Given the description of an element on the screen output the (x, y) to click on. 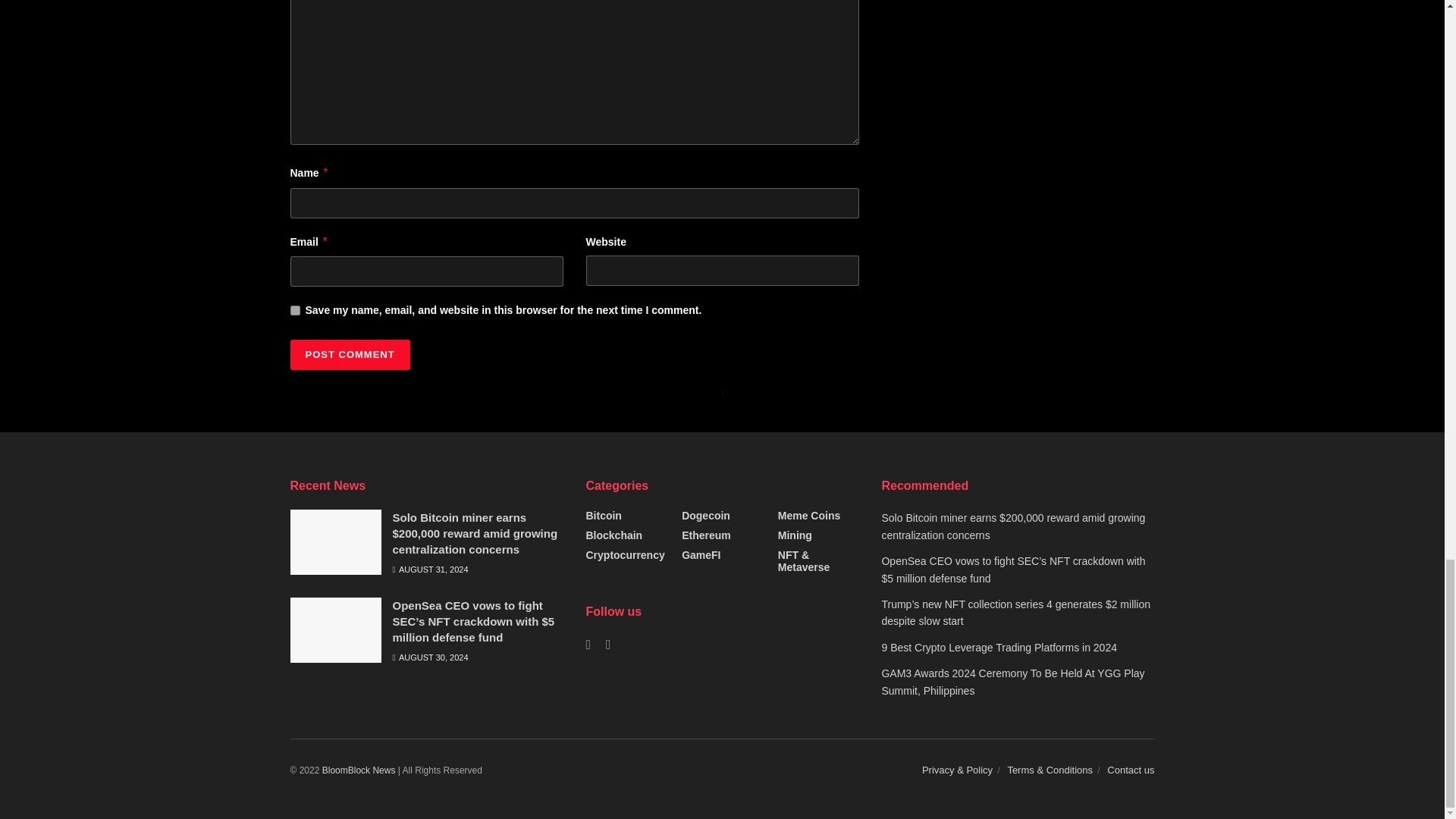
Post Comment (349, 354)
yes (294, 310)
Premium news  (358, 769)
